Given the description of an element on the screen output the (x, y) to click on. 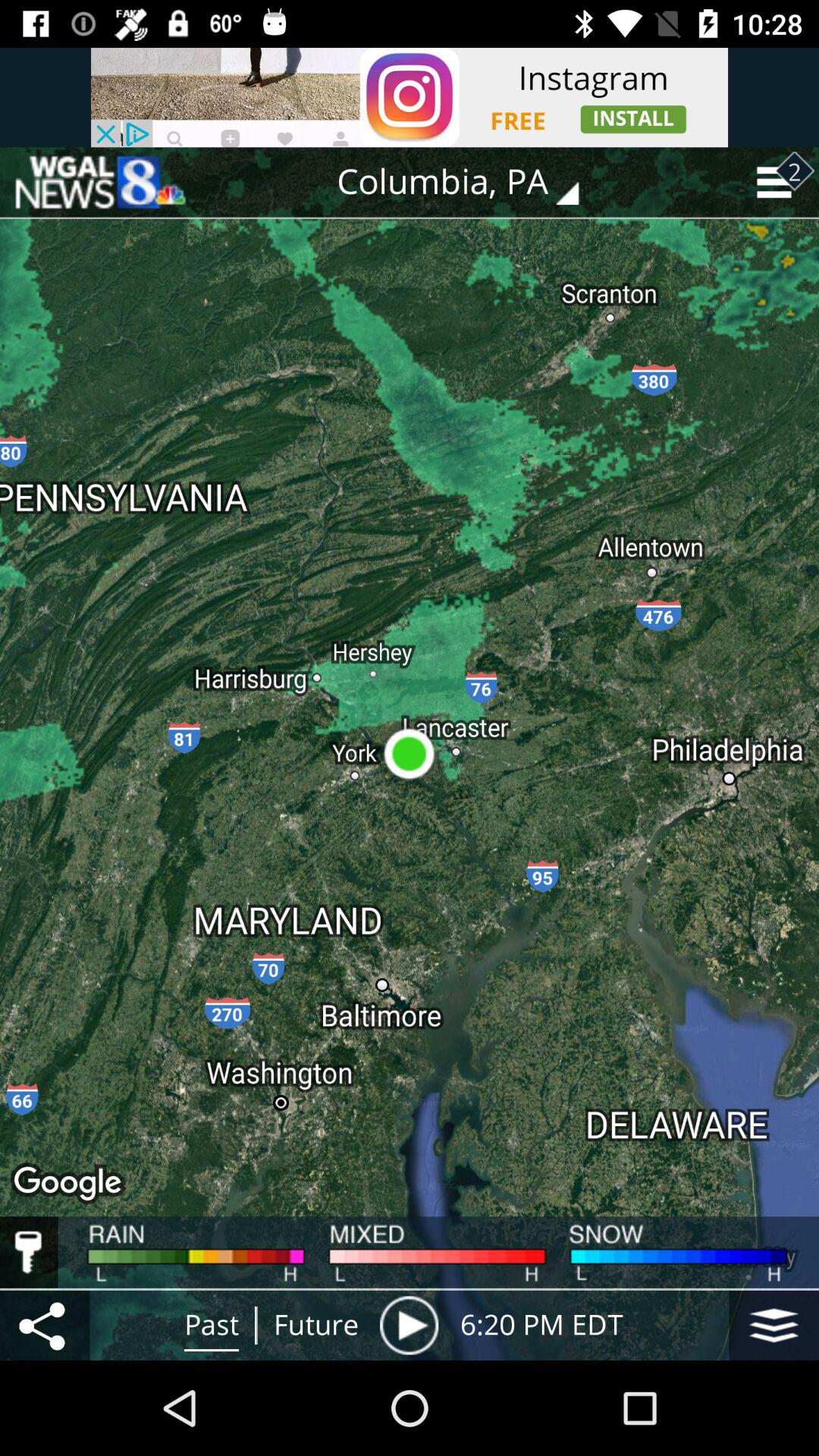
turn off columbia, pa icon (468, 182)
